Given the description of an element on the screen output the (x, y) to click on. 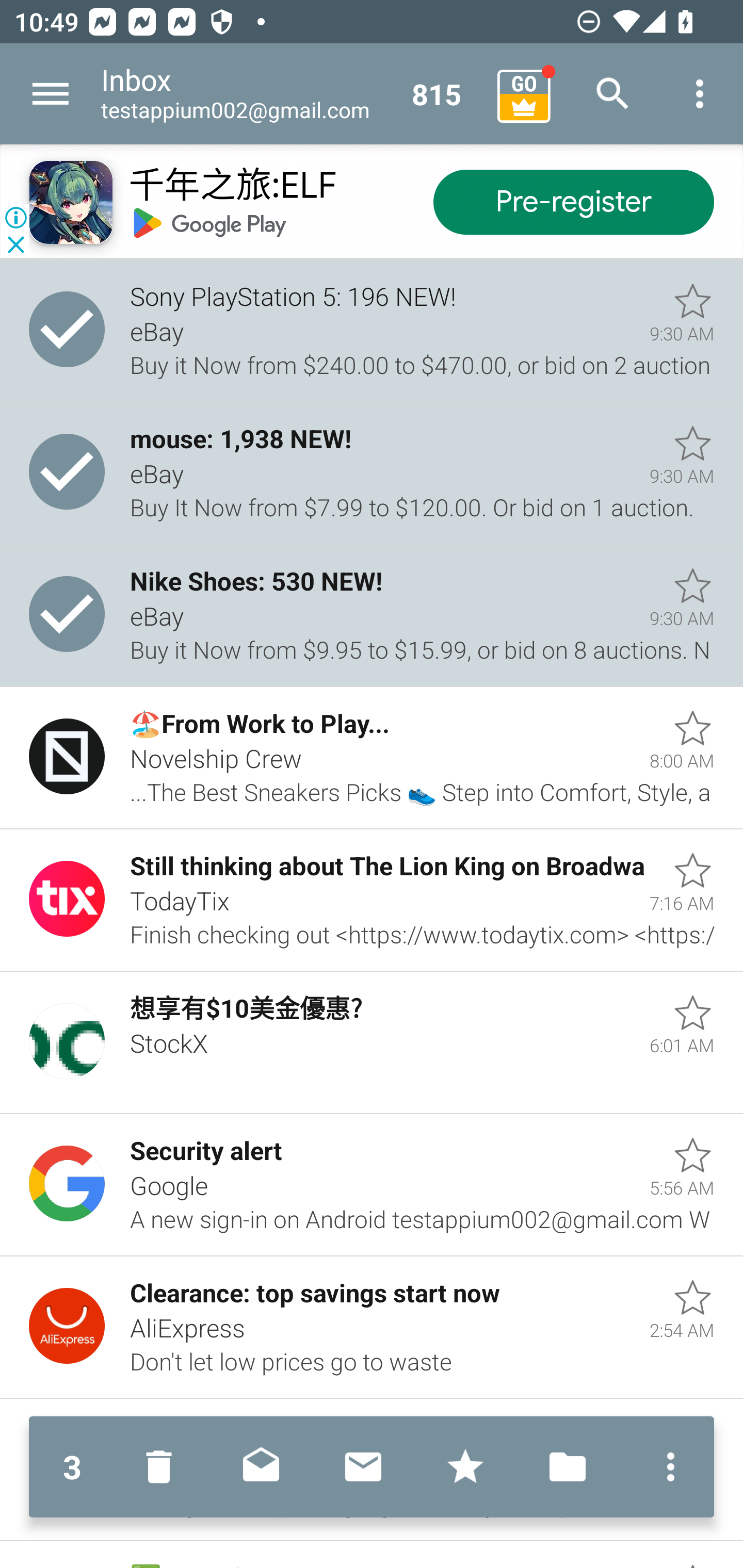
Navigate up (50, 93)
Inbox testappium002@gmail.com 815 (291, 93)
Search (612, 93)
More options (699, 93)
千年之旅:ELF (232, 186)
Pre-register (573, 202)
Unread, 想享有$10美金優惠?, StockX, 6:01 AM (371, 1043)
3 3 messages (71, 1466)
Move to Deleted (162, 1466)
Mark read (261, 1466)
Mark unread (363, 1466)
Mark with stars (465, 1466)
Move to folder… (567, 1466)
More options (666, 1466)
